Given the description of an element on the screen output the (x, y) to click on. 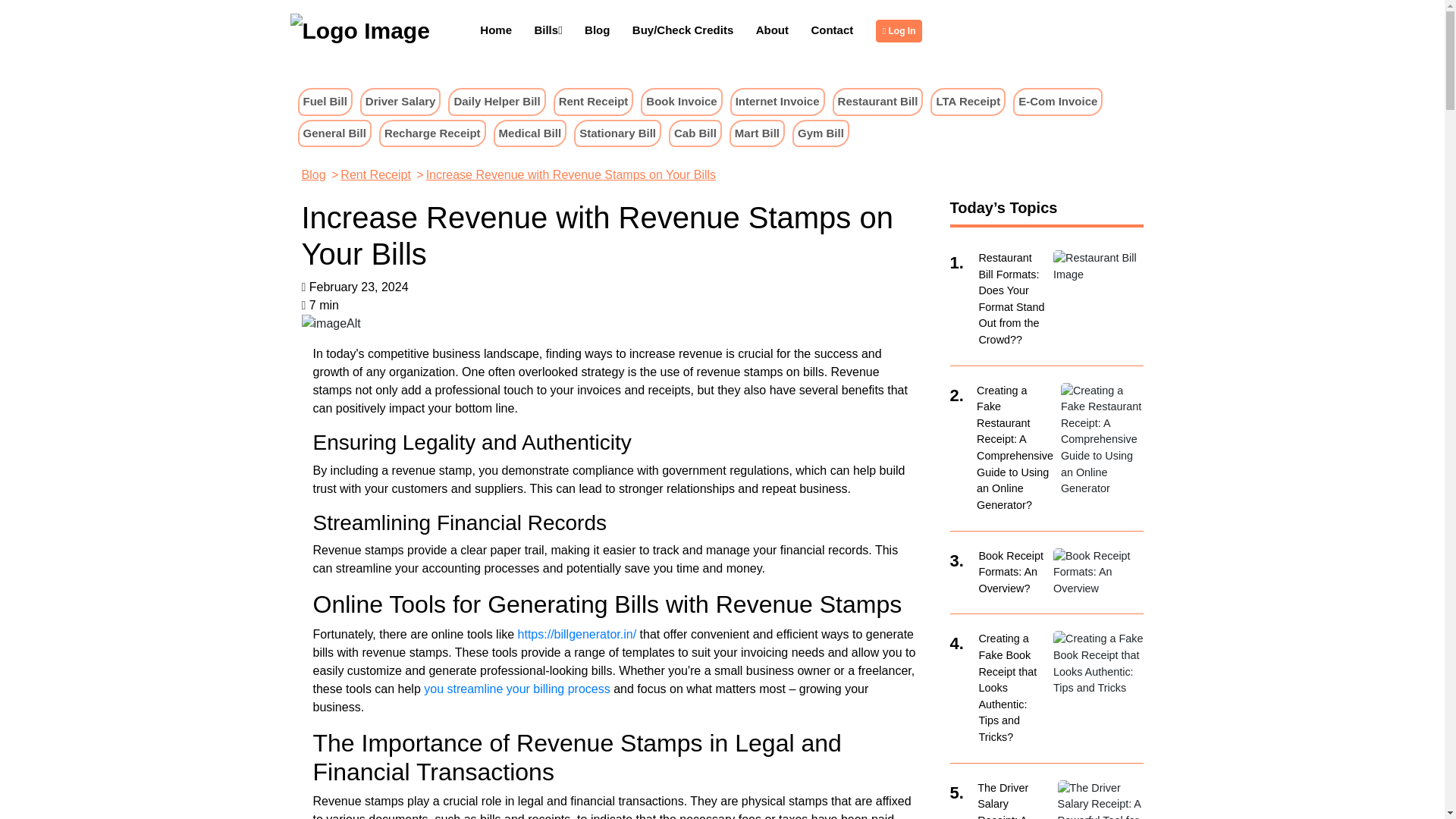
Rent Receipt (593, 101)
Rent Receipt (593, 101)
Driver Salary (400, 101)
Log In (901, 31)
Fuel Bill (324, 101)
Book Invoice (681, 101)
Contact (831, 30)
Daily Helper Bill (496, 101)
Restaurant Bill (878, 101)
LTA Receipt (968, 101)
Internet Invoice (777, 101)
Fuel Bill (324, 101)
Daily Helper Bill (496, 101)
LTA Receipt (968, 101)
Book Invoice (681, 101)
